Given the description of an element on the screen output the (x, y) to click on. 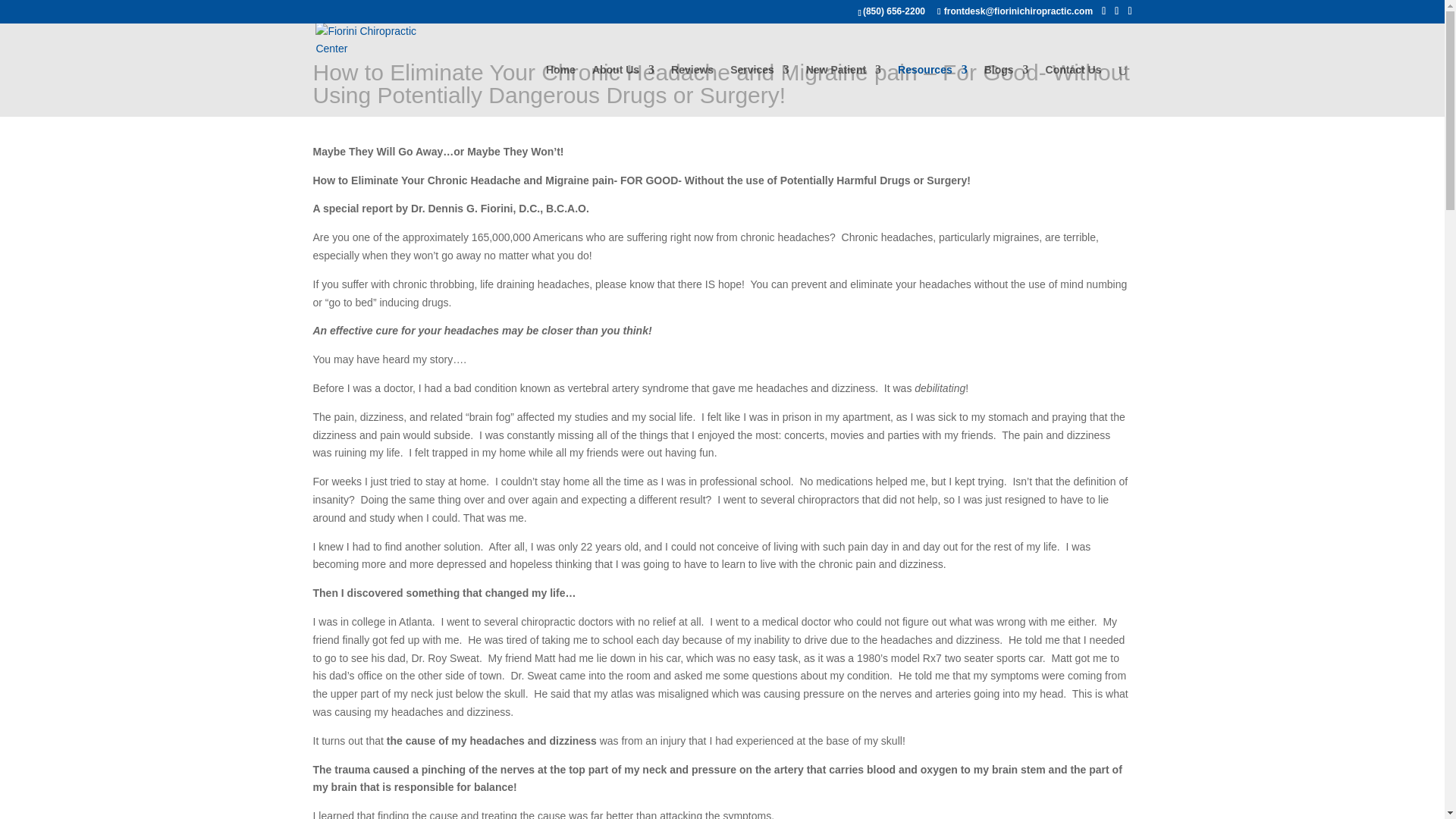
Services (759, 90)
About Us (622, 90)
New Patient (843, 90)
